Given the description of an element on the screen output the (x, y) to click on. 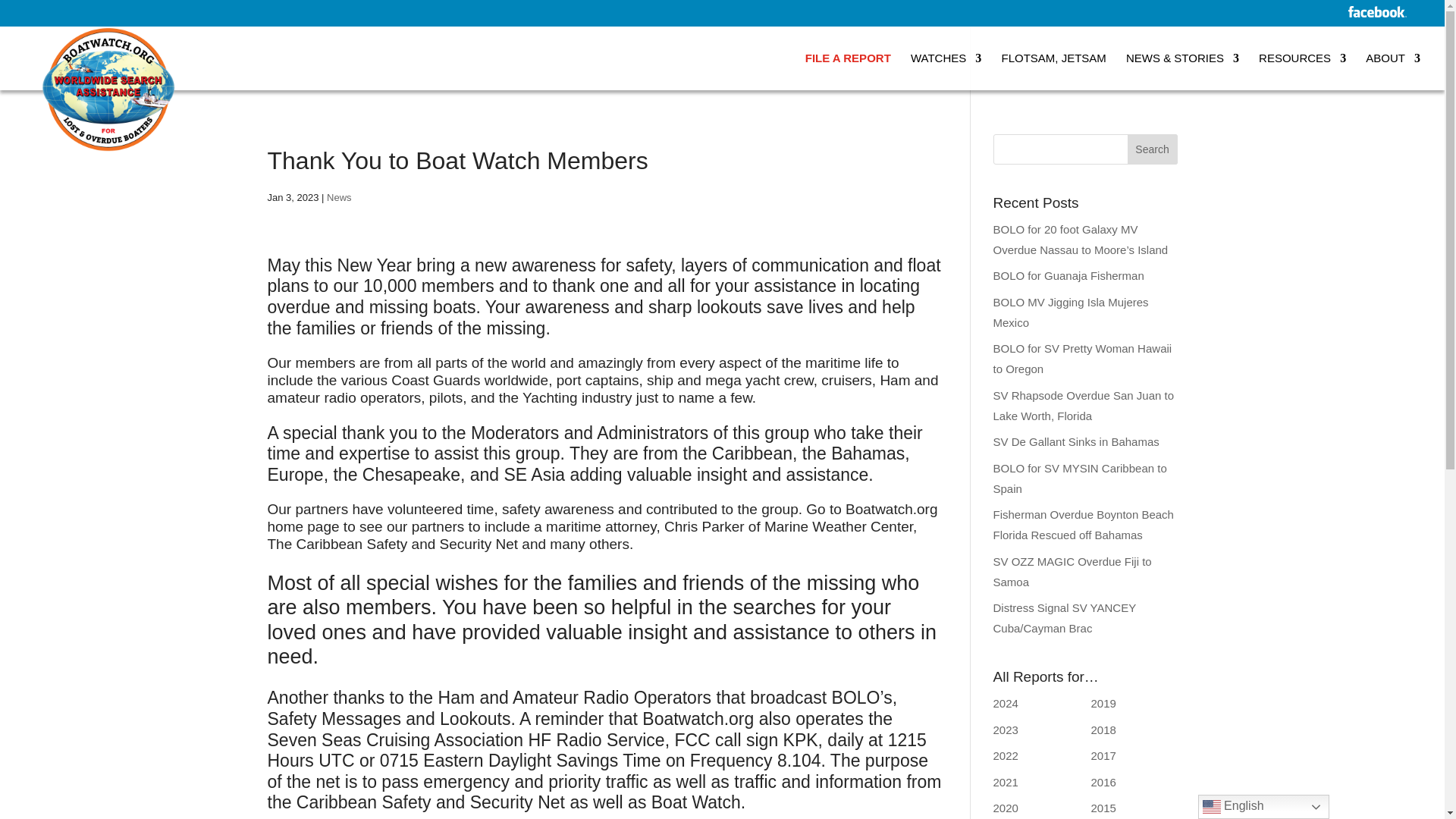
Search (1151, 149)
WATCHES (946, 71)
News (339, 197)
BOLO for SV Pretty Woman Hawaii to Oregon (1082, 358)
FILE A REPORT (848, 71)
Search (1151, 149)
RESOURCES (1302, 71)
BOLO MV Jigging Isla Mujeres Mexico (1070, 312)
FLOTSAM, JETSAM (1053, 71)
ABOUT (1393, 71)
BOLO for Guanaja Fisherman (1068, 275)
